Given the description of an element on the screen output the (x, y) to click on. 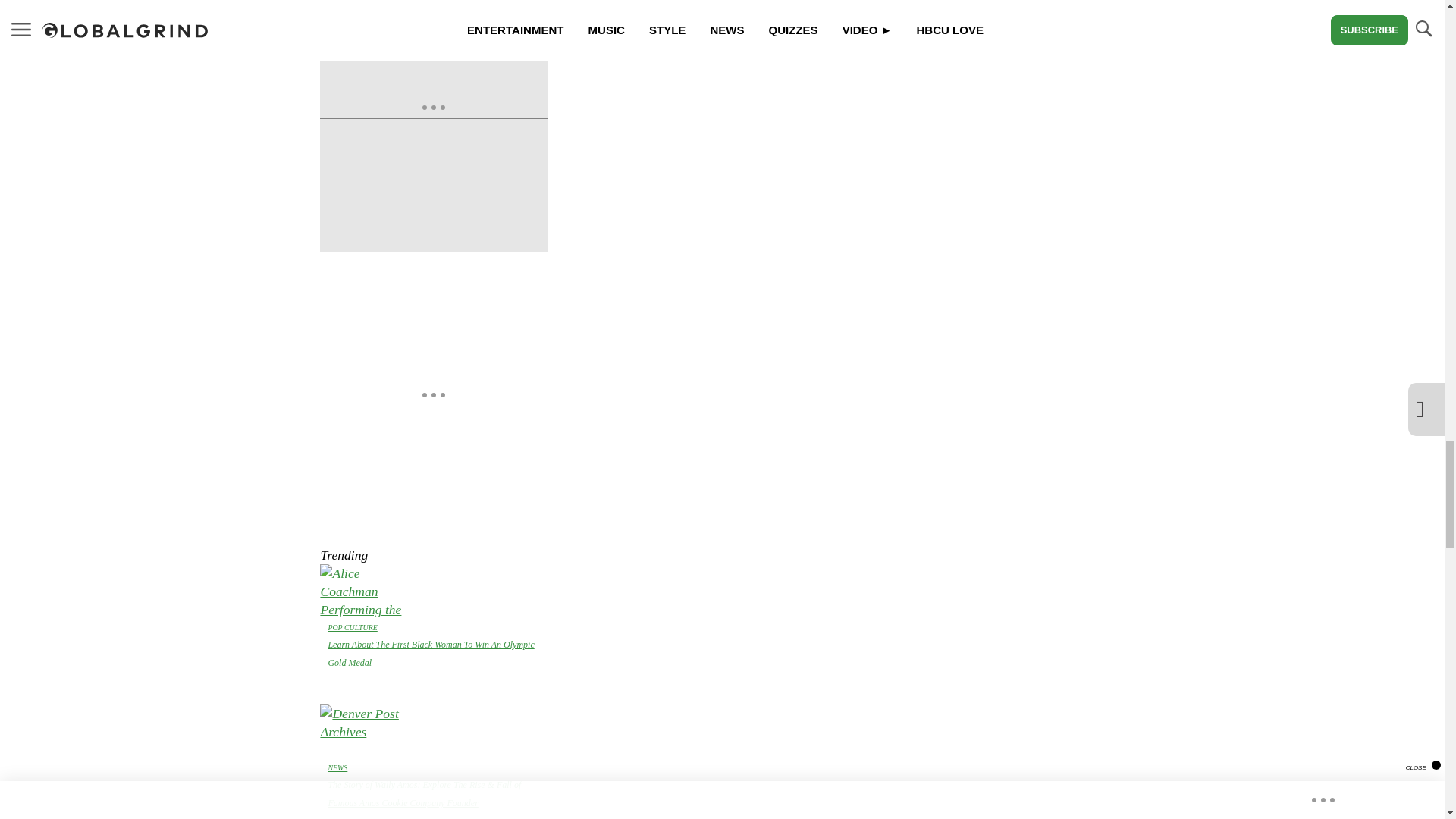
POP CULTURE (352, 627)
NEWS (337, 767)
